Given the description of an element on the screen output the (x, y) to click on. 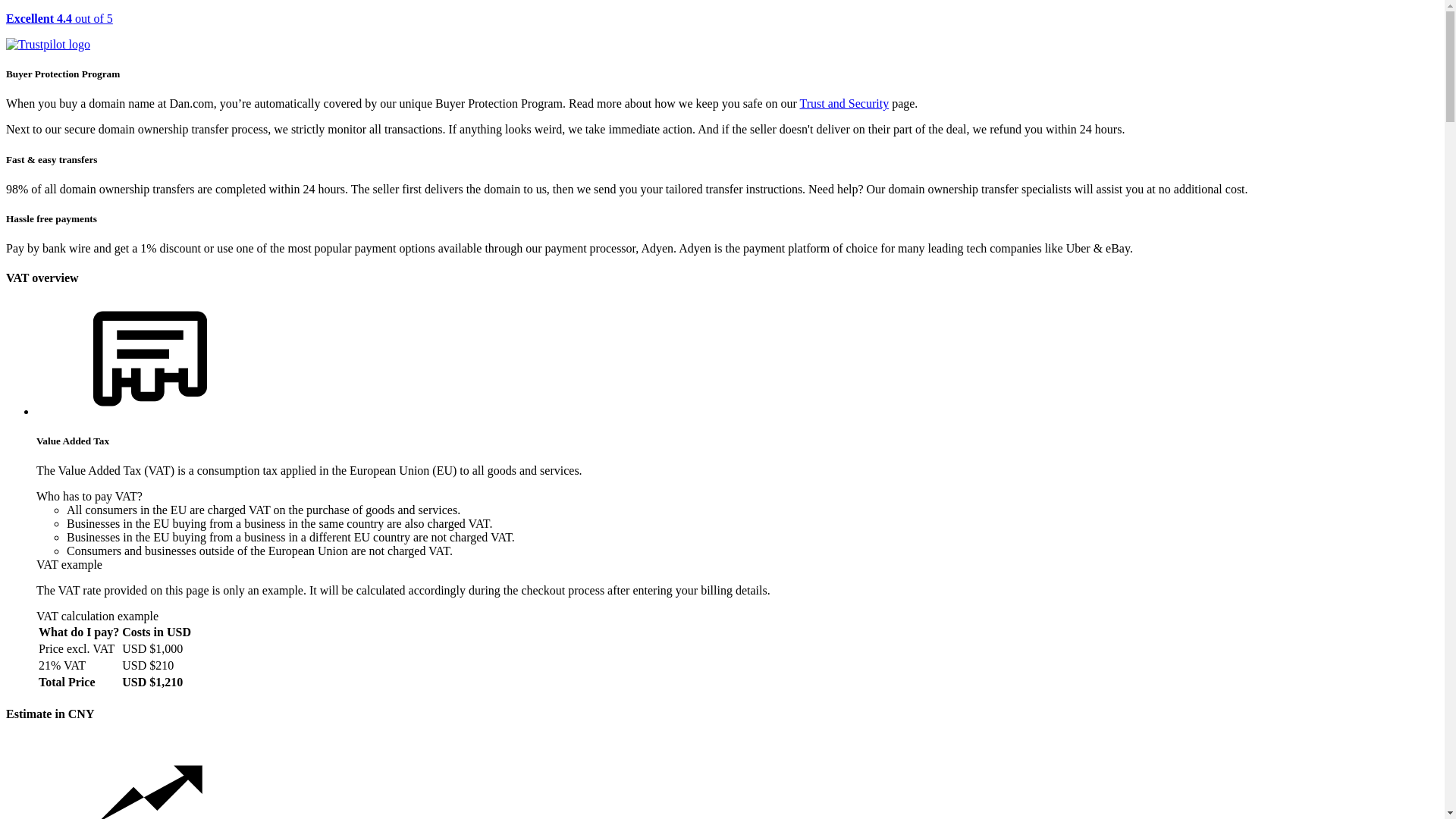
Trust and Security Element type: text (844, 103)
Excellent 4.4 out of 5 Element type: text (722, 31)
